Given the description of an element on the screen output the (x, y) to click on. 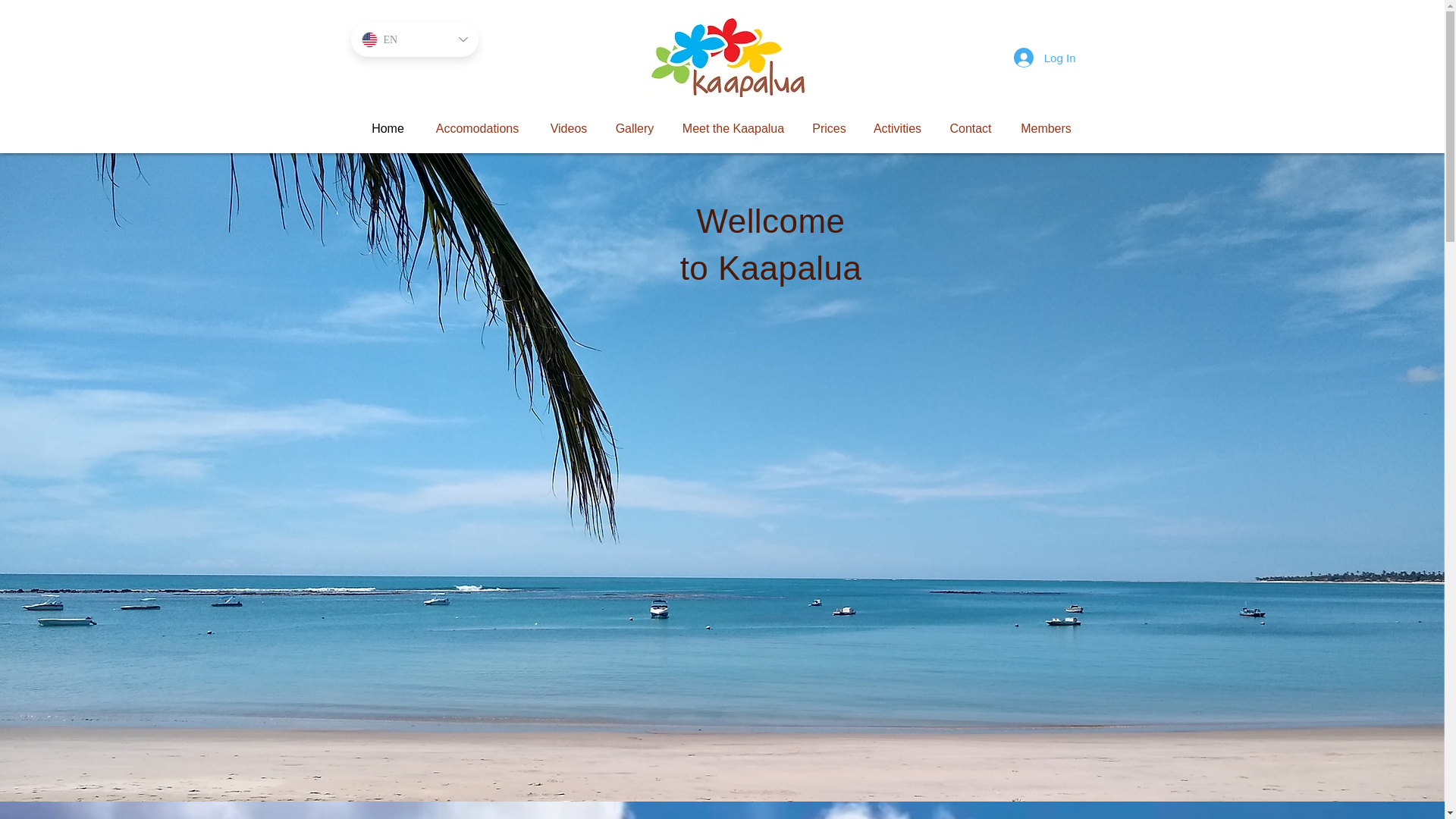
Gallery (635, 128)
Meet the Kaapalua (731, 128)
Contact (971, 128)
Videos (568, 128)
Members (1046, 128)
Home (387, 128)
Log In (1044, 57)
Prices (829, 128)
Accomodations (477, 128)
Activities (898, 128)
